Given the description of an element on the screen output the (x, y) to click on. 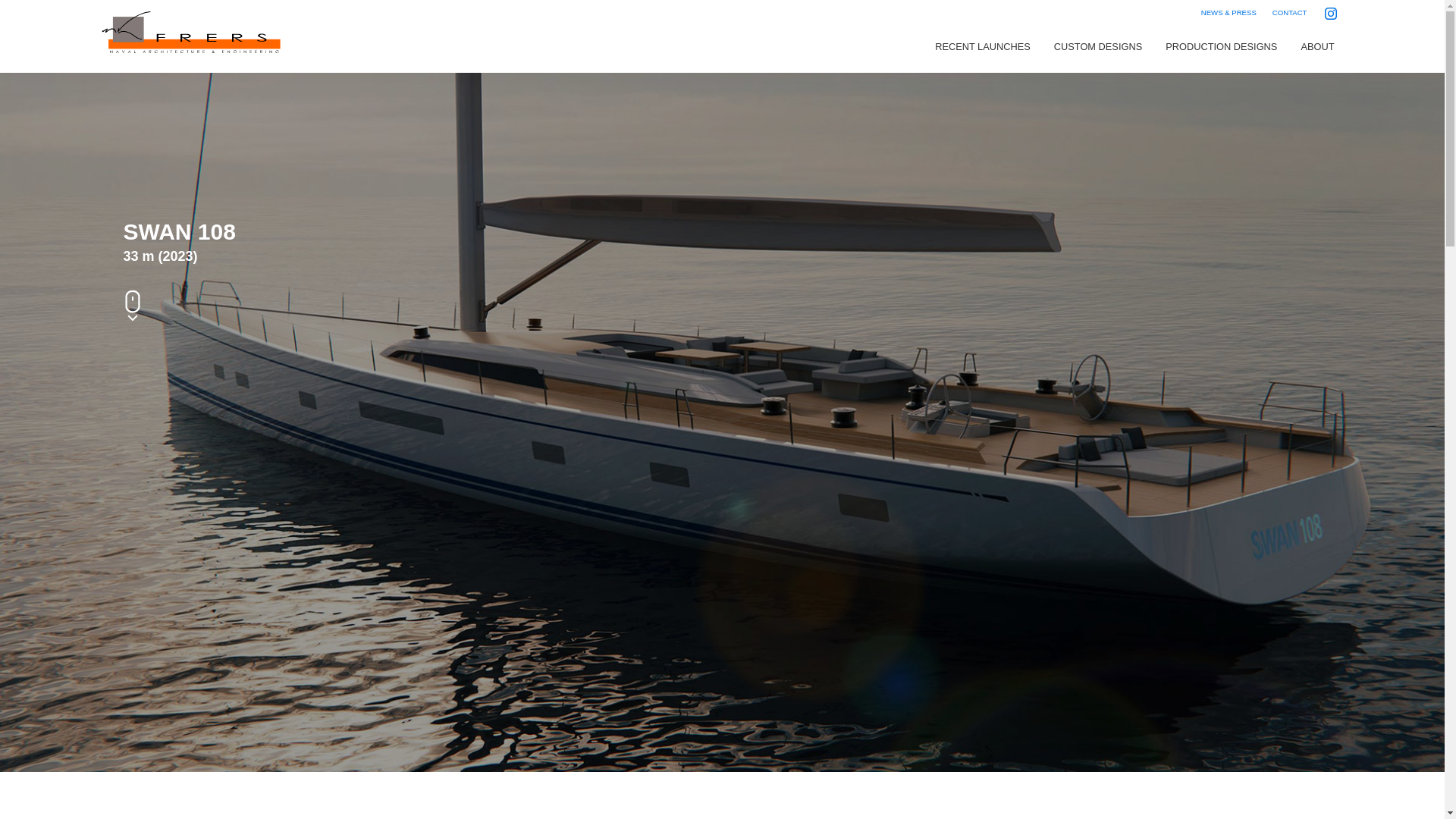
PRODUCTION DESIGNS (1221, 47)
RECENT LAUNCHES (982, 47)
RECENT LAUNCHES (982, 47)
CUSTOM DESIGNS (1097, 47)
CONTACT (1289, 12)
ABOUT (1316, 47)
CUSTOM DESIGNS (1097, 47)
PRODUCTION DESIGNS (1221, 47)
ABOUT (1316, 47)
